Given the description of an element on the screen output the (x, y) to click on. 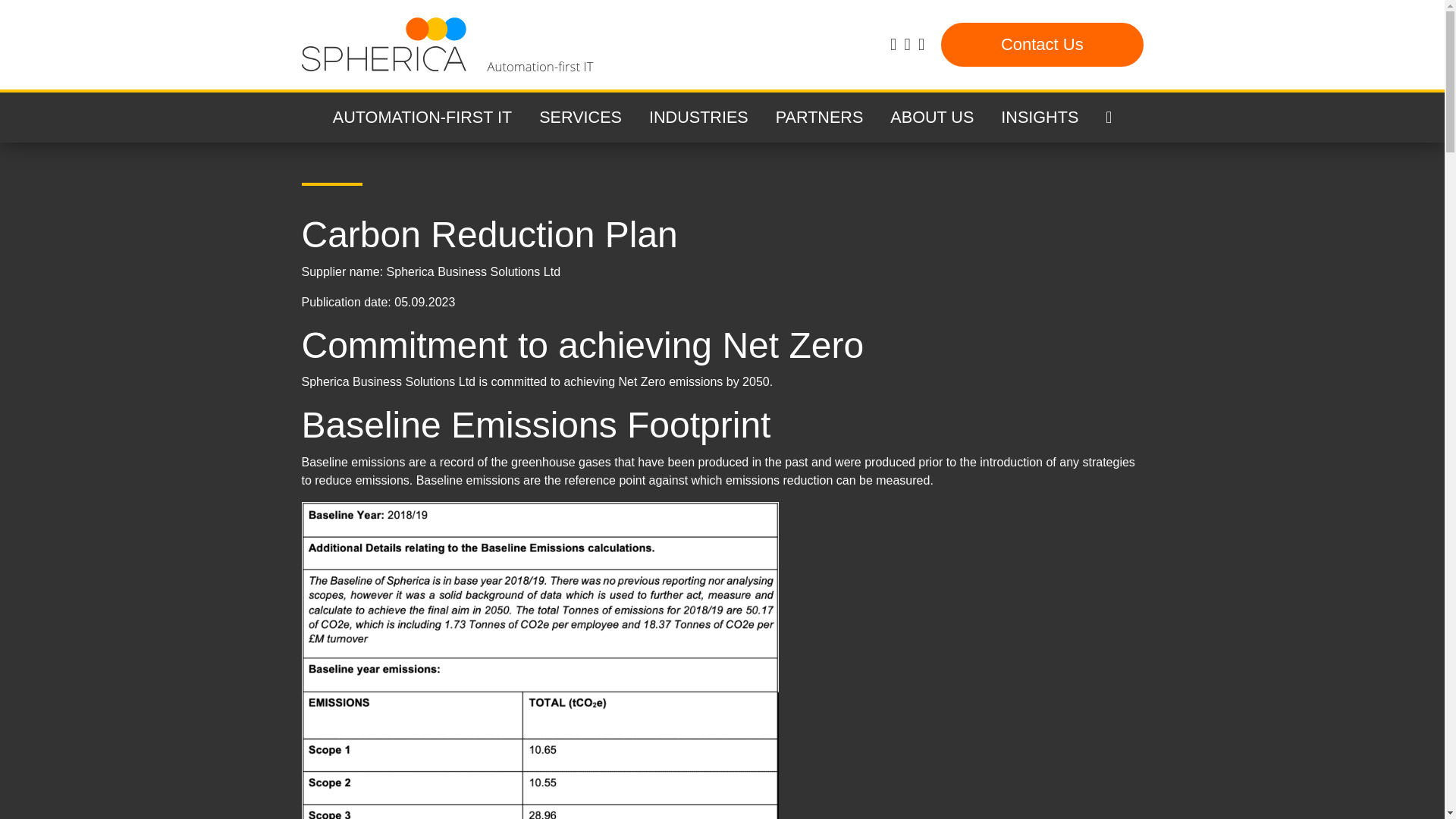
INDUSTRIES (697, 117)
Contact Us (1041, 44)
SERVICES (579, 117)
AUTOMATION-FIRST IT (421, 117)
